Given the description of an element on the screen output the (x, y) to click on. 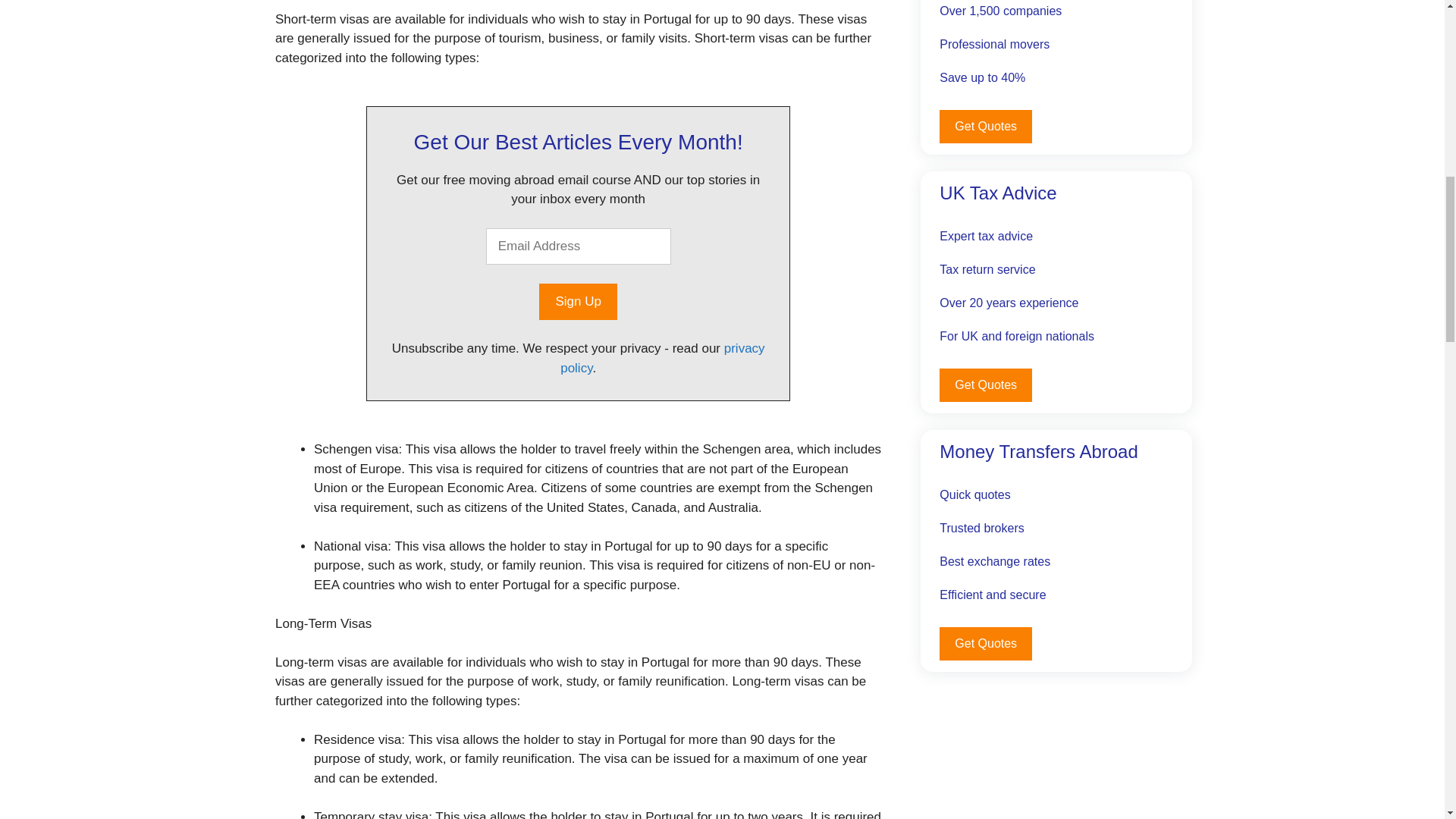
Sign Up (576, 301)
